Given the description of an element on the screen output the (x, y) to click on. 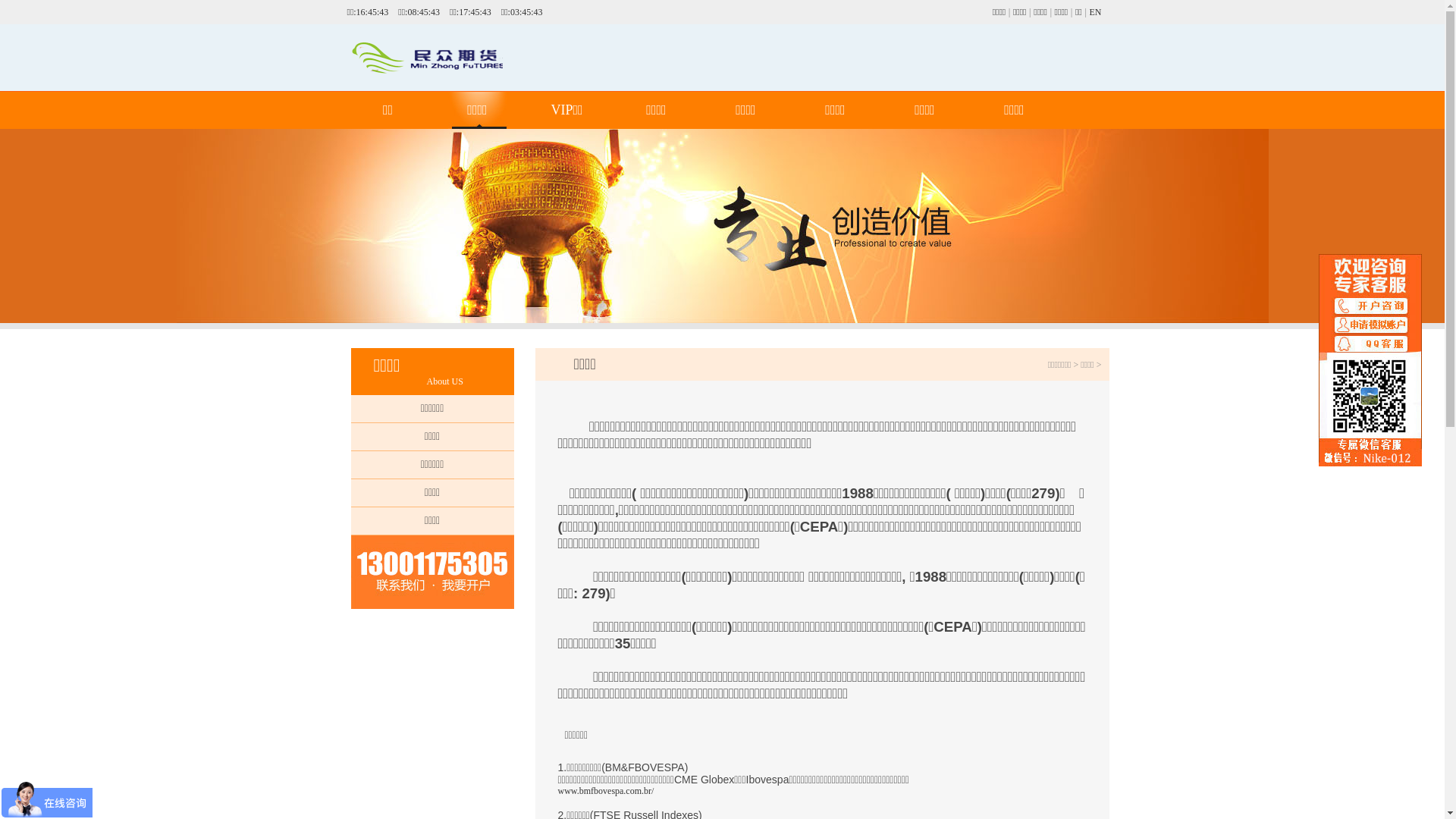
www.bmfbovespa.com.br/ Element type: text (606, 790)
EN Element type: text (1094, 11)
